Given the description of an element on the screen output the (x, y) to click on. 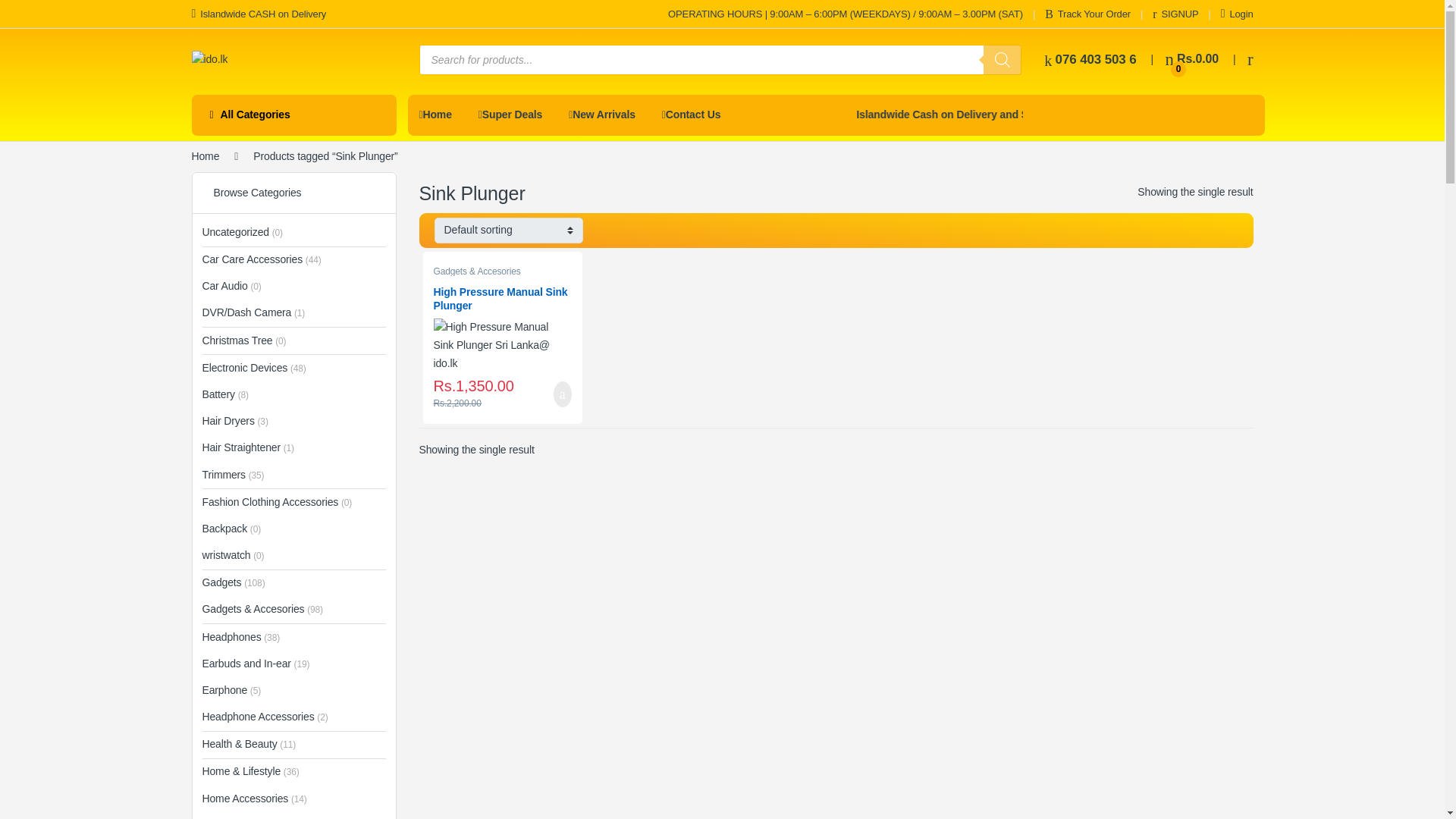
Login (1237, 13)
Islandwide CASH on Delivery (258, 13)
Login (1237, 13)
076 403 503 6 (1089, 59)
Islandwide CASH on Delivery (258, 13)
SIGNUP (1175, 13)
All Categories (293, 115)
SIGNUP (1191, 59)
Track Your Order (1175, 13)
Track Your Order (1088, 13)
